Given the description of an element on the screen output the (x, y) to click on. 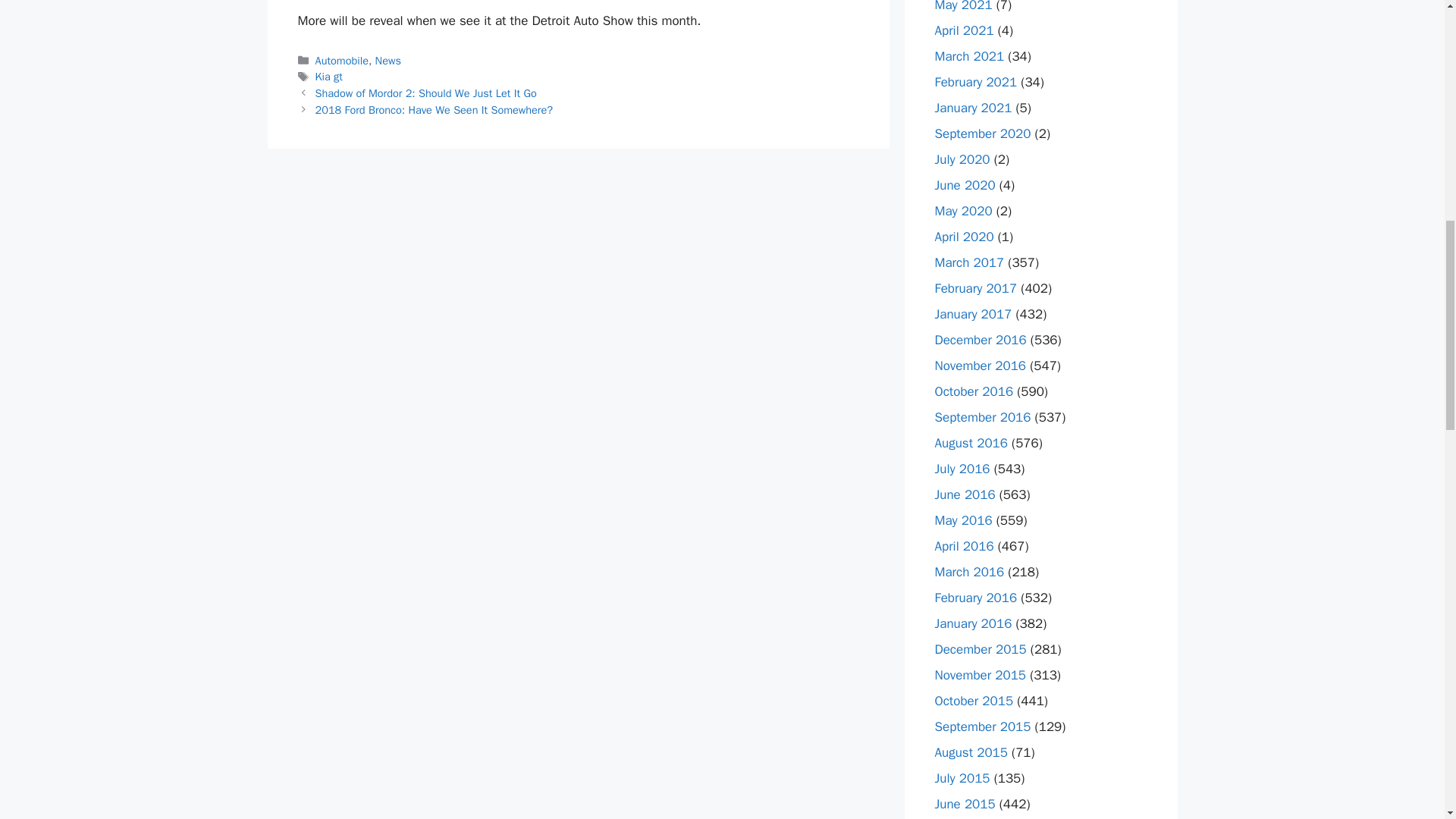
Kia gt (328, 76)
Automobile (341, 60)
News (388, 60)
Shadow of Mordor 2: Should We Just Let It Go (426, 92)
2018 Ford Bronco: Have We Seen It Somewhere? (434, 110)
